Given the description of an element on the screen output the (x, y) to click on. 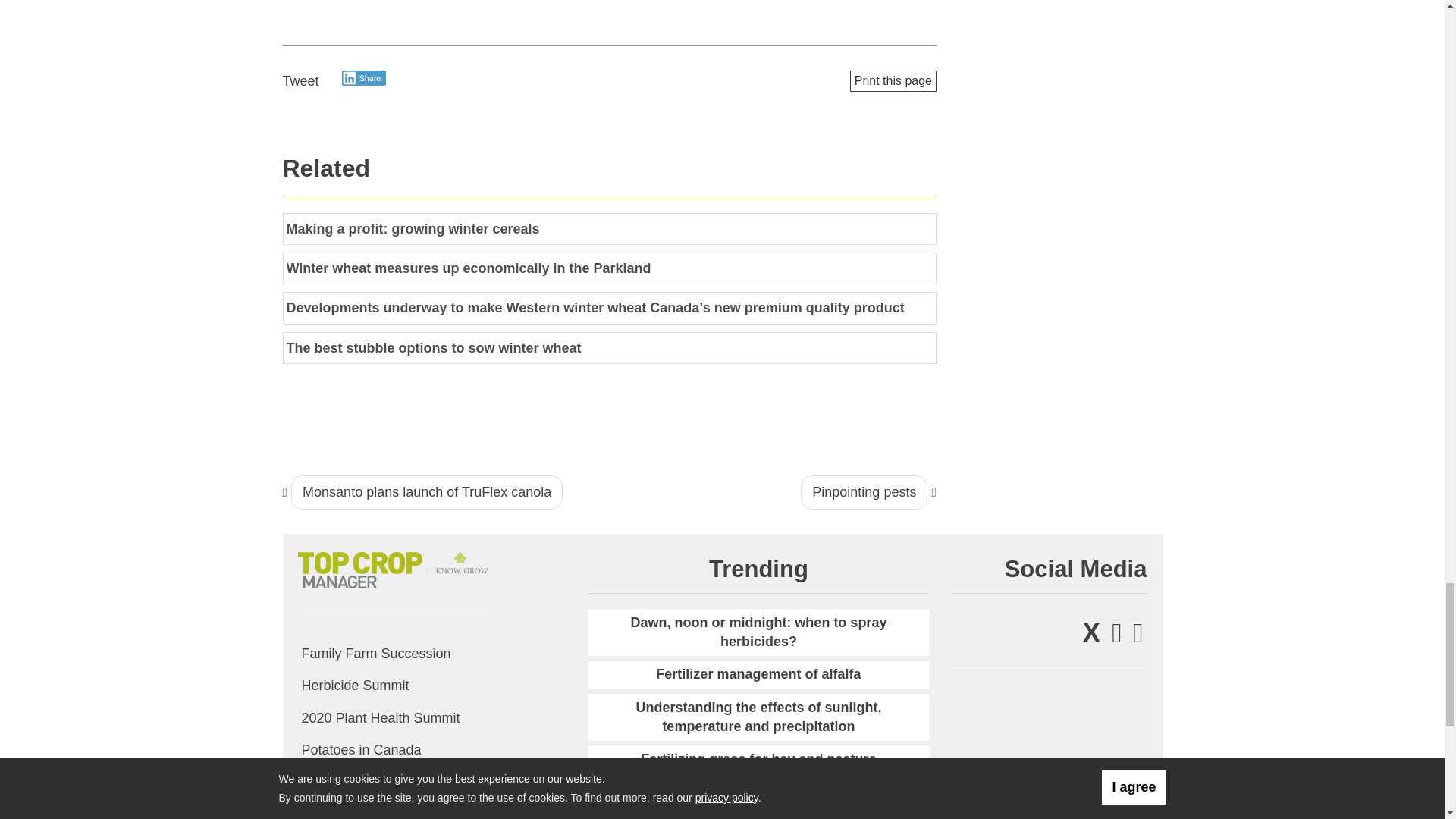
Top Crop Manager (395, 567)
